Given the description of an element on the screen output the (x, y) to click on. 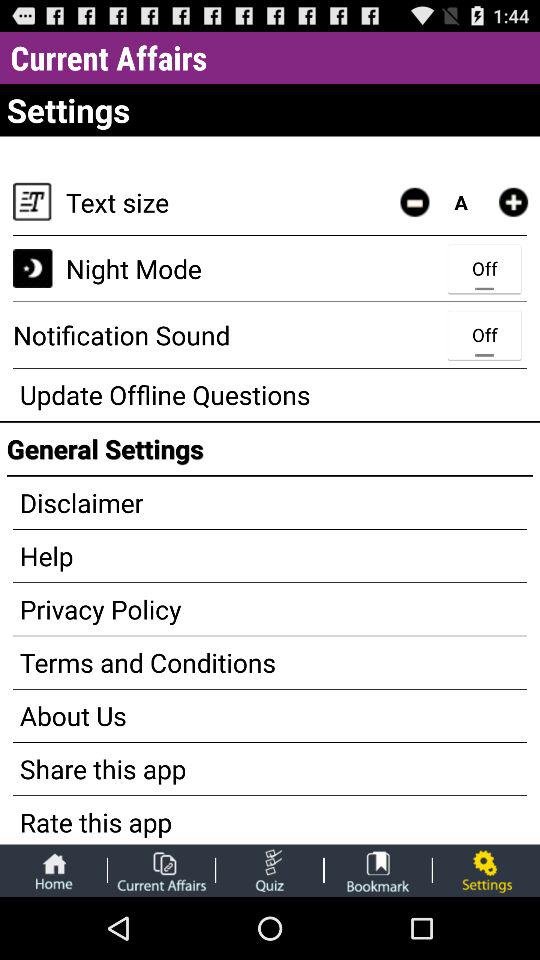
click item to the right of text size (414, 202)
